Given the description of an element on the screen output the (x, y) to click on. 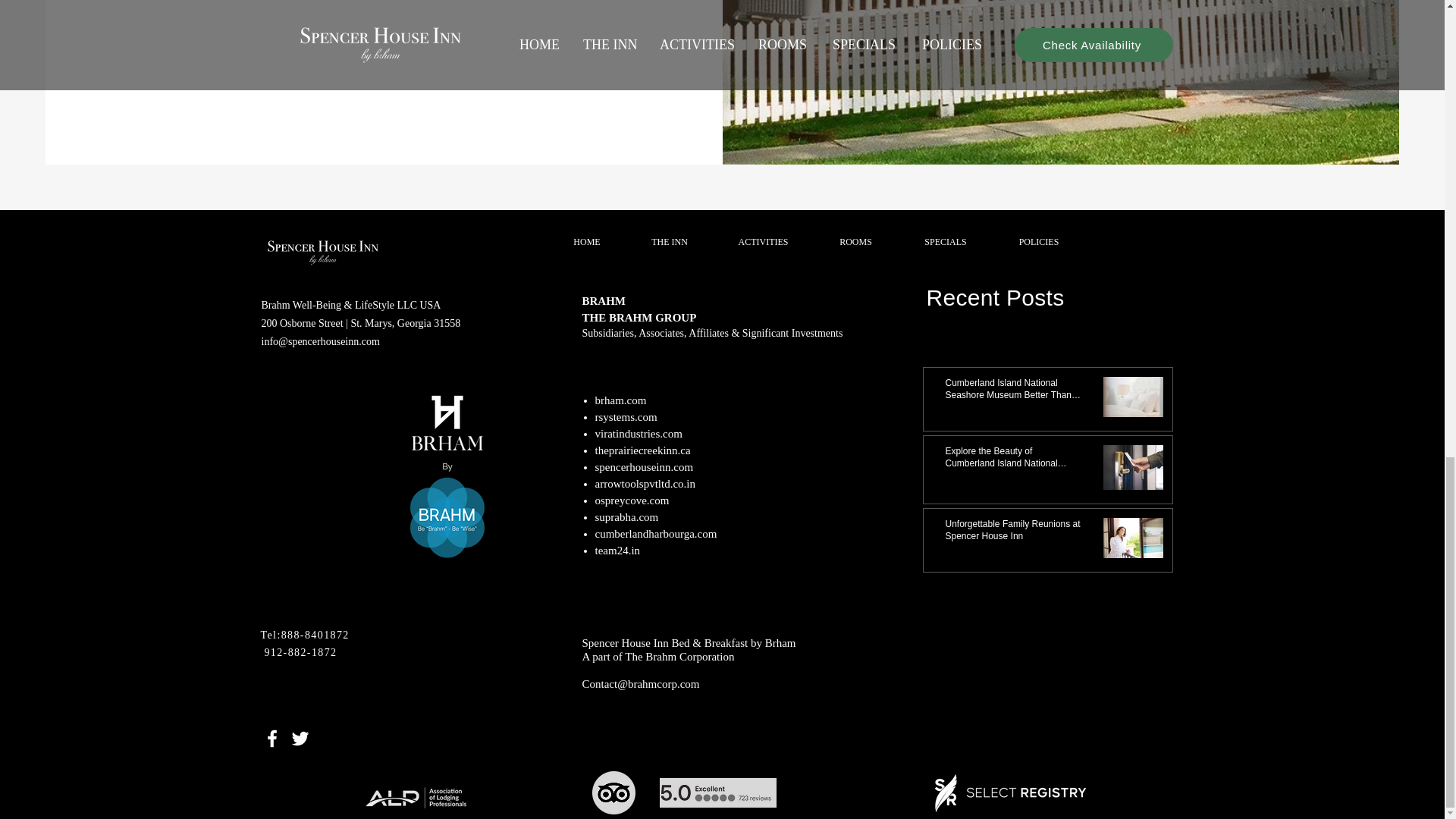
ROOMS (855, 241)
ospreycove.com (631, 500)
THE INN (669, 241)
cumberlandharbourga.com (655, 533)
arrowtoolspvtltd.co.in (644, 483)
rsystems.com (625, 417)
spencerhouseinn.com (643, 467)
viratindustries.com (637, 433)
SPECIALS (945, 241)
ACTIVITIES (762, 241)
